Given the description of an element on the screen output the (x, y) to click on. 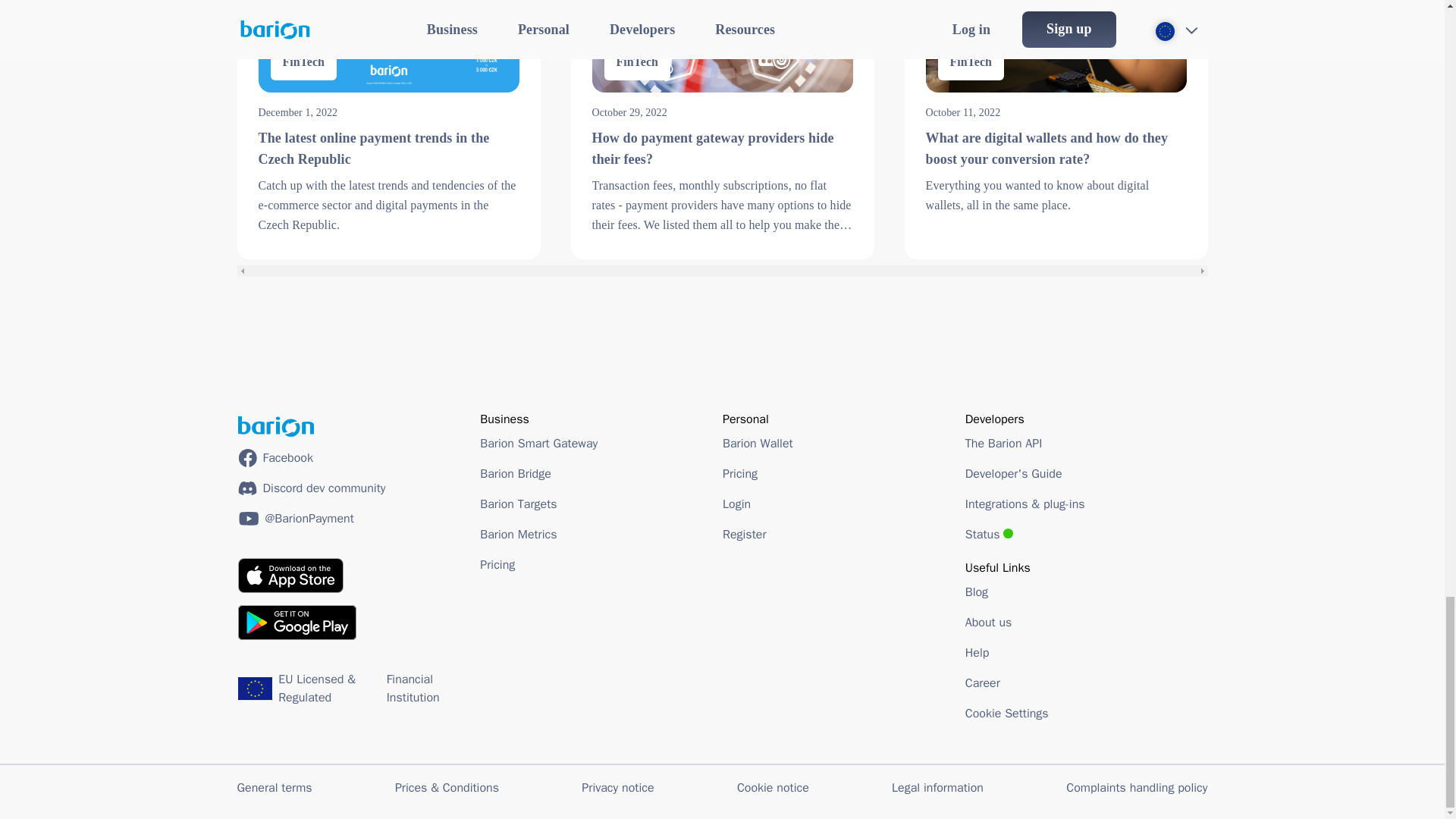
Cookie Settings (1006, 713)
Facebook (275, 457)
Barion Targets (518, 503)
Login (736, 503)
Barion Metrics (518, 534)
Career (1006, 683)
Barion Bridge (515, 473)
Developer's Guide (1013, 473)
Register (744, 534)
Help (1006, 653)
The Barion API (1003, 443)
Discord dev community (311, 488)
Pricing (497, 564)
